Given the description of an element on the screen output the (x, y) to click on. 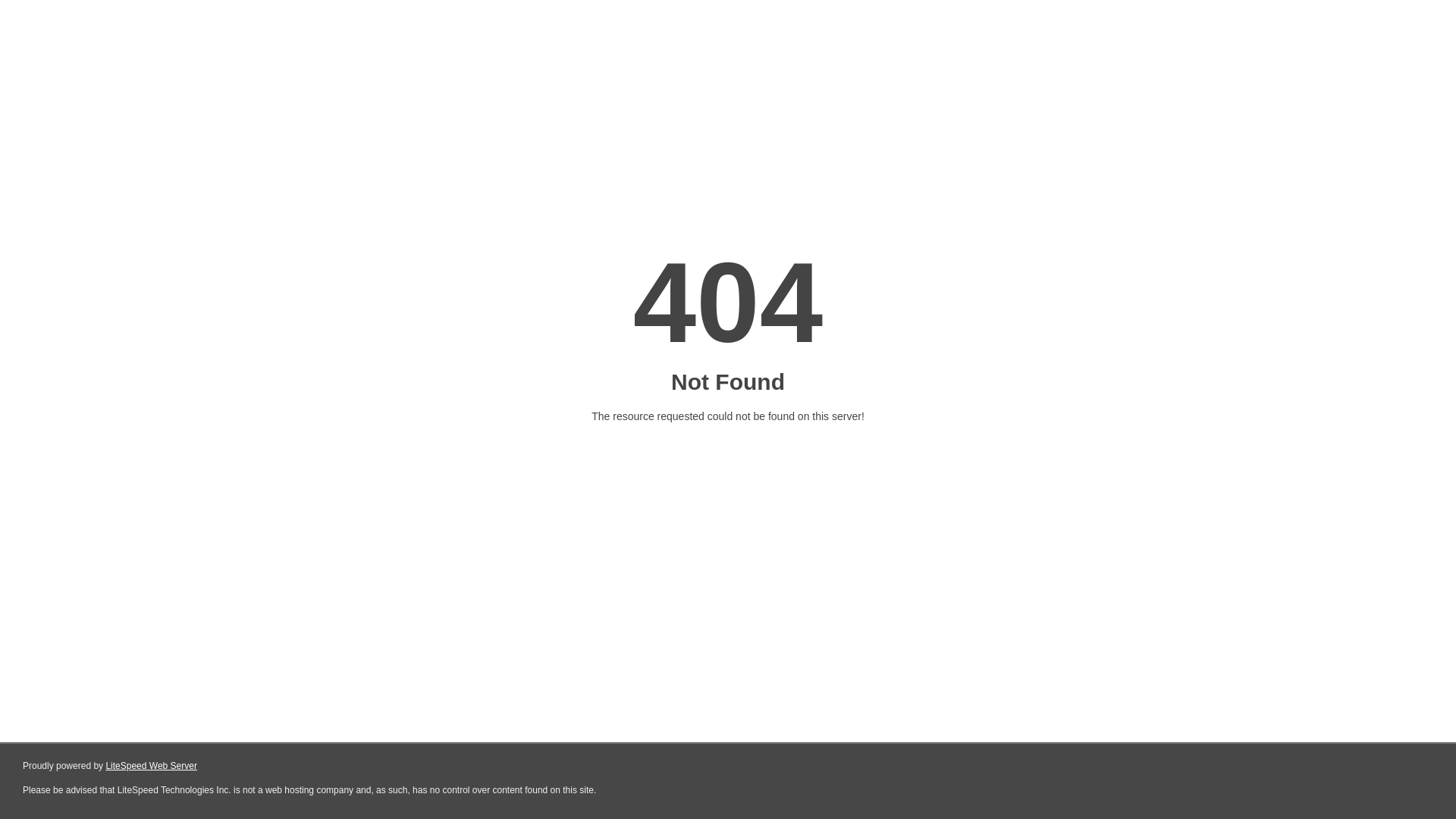
LiteSpeed Web Server Element type: text (151, 765)
